Given the description of an element on the screen output the (x, y) to click on. 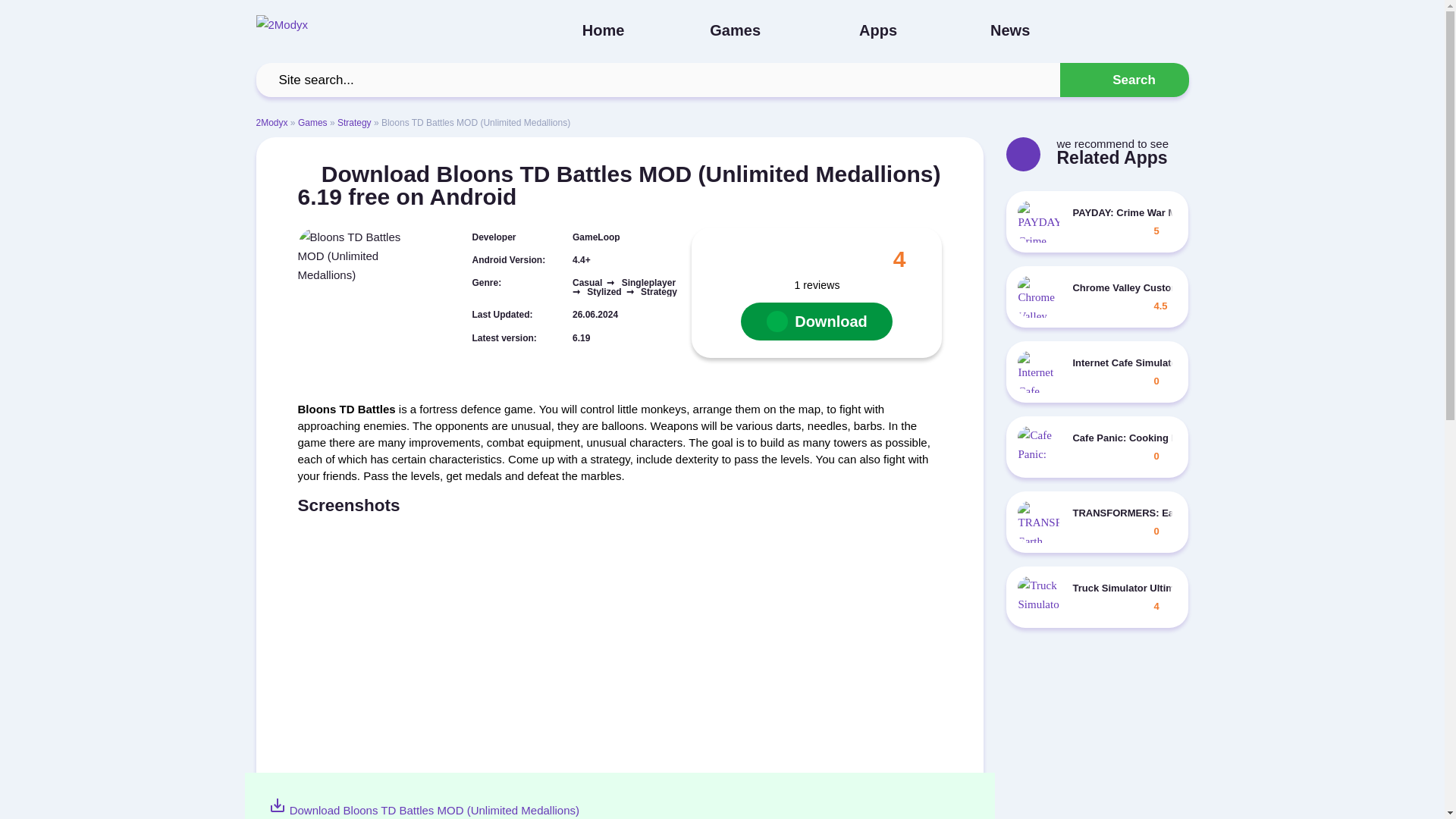
Useless (745, 258)
Home (603, 30)
Apps (877, 30)
Good (836, 258)
Search (1124, 80)
Games (735, 30)
Poor (775, 258)
Strategy (354, 122)
News (1009, 30)
2 (775, 258)
